Given the description of an element on the screen output the (x, y) to click on. 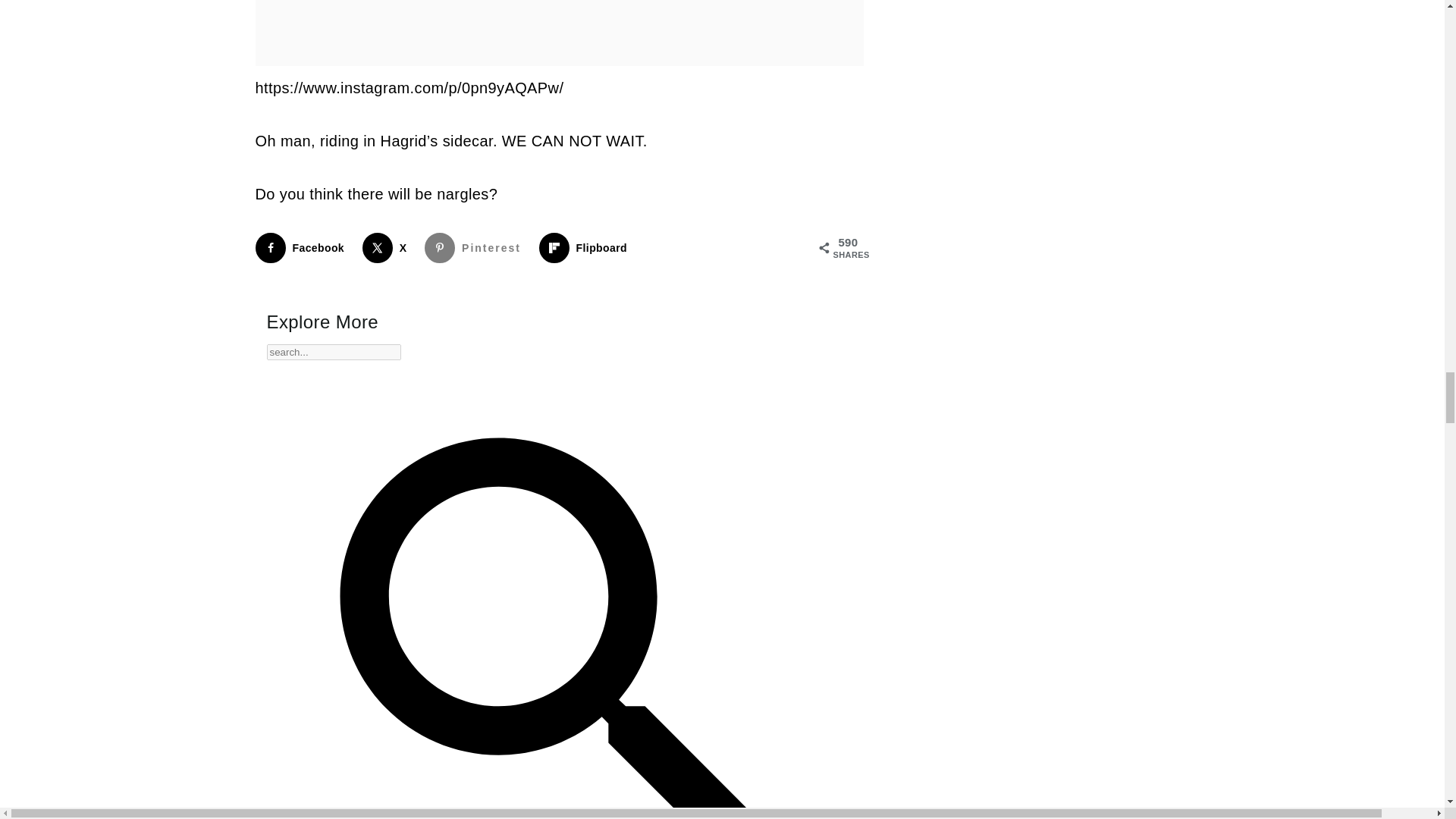
Share on X (387, 247)
Share on Flipboard (585, 247)
Save to Pinterest (476, 247)
Share on Facebook (302, 247)
